Given the description of an element on the screen output the (x, y) to click on. 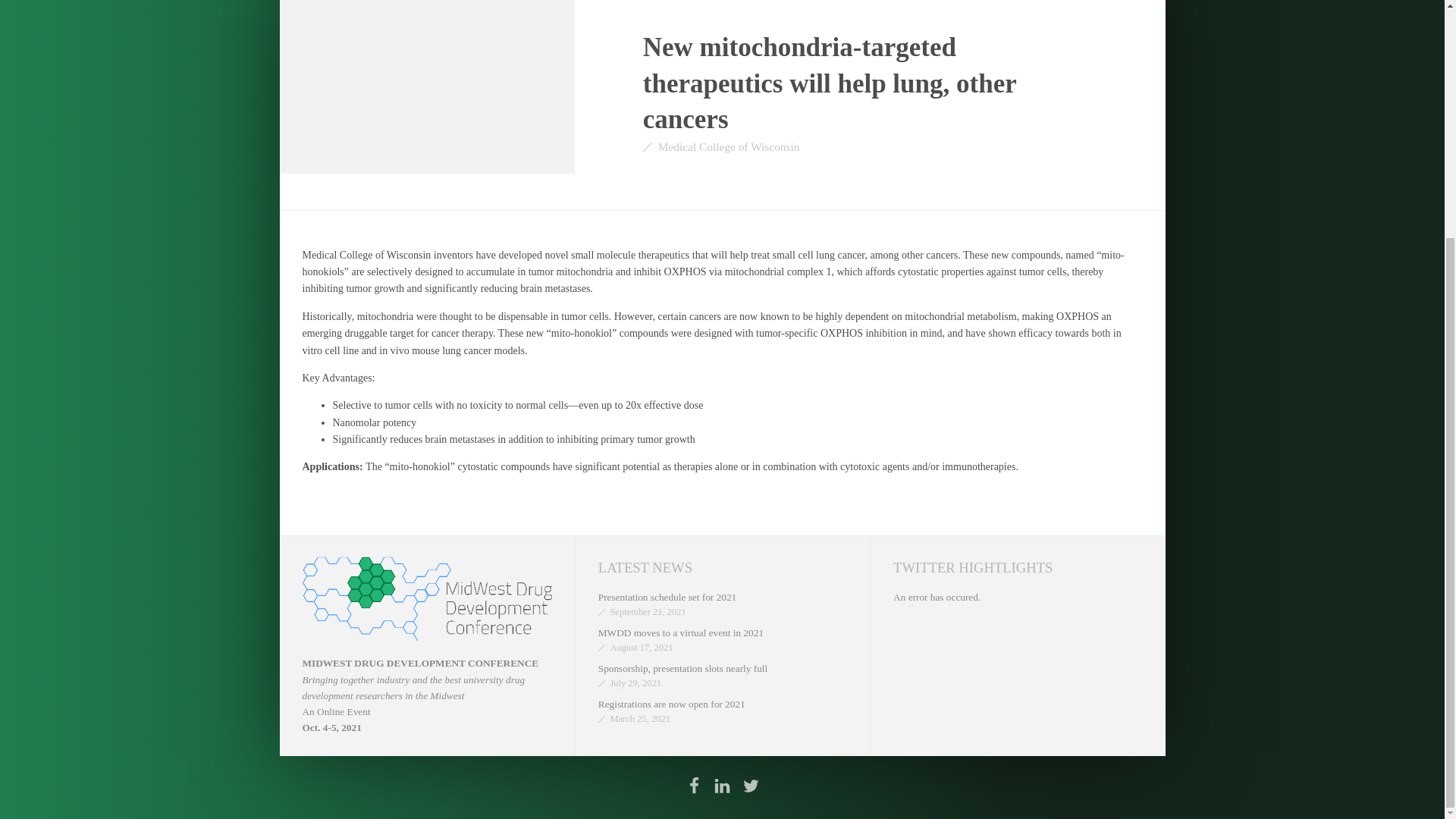
Twitter (750, 785)
Presentation schedule set for 2021 (667, 596)
MWDD moves to a virtual event in 2021 (680, 632)
Registrations are now open for 2021 (671, 704)
Facebook (693, 785)
Sponsorship, presentation slots nearly full (682, 668)
LinkedIn (721, 785)
